Given the description of an element on the screen output the (x, y) to click on. 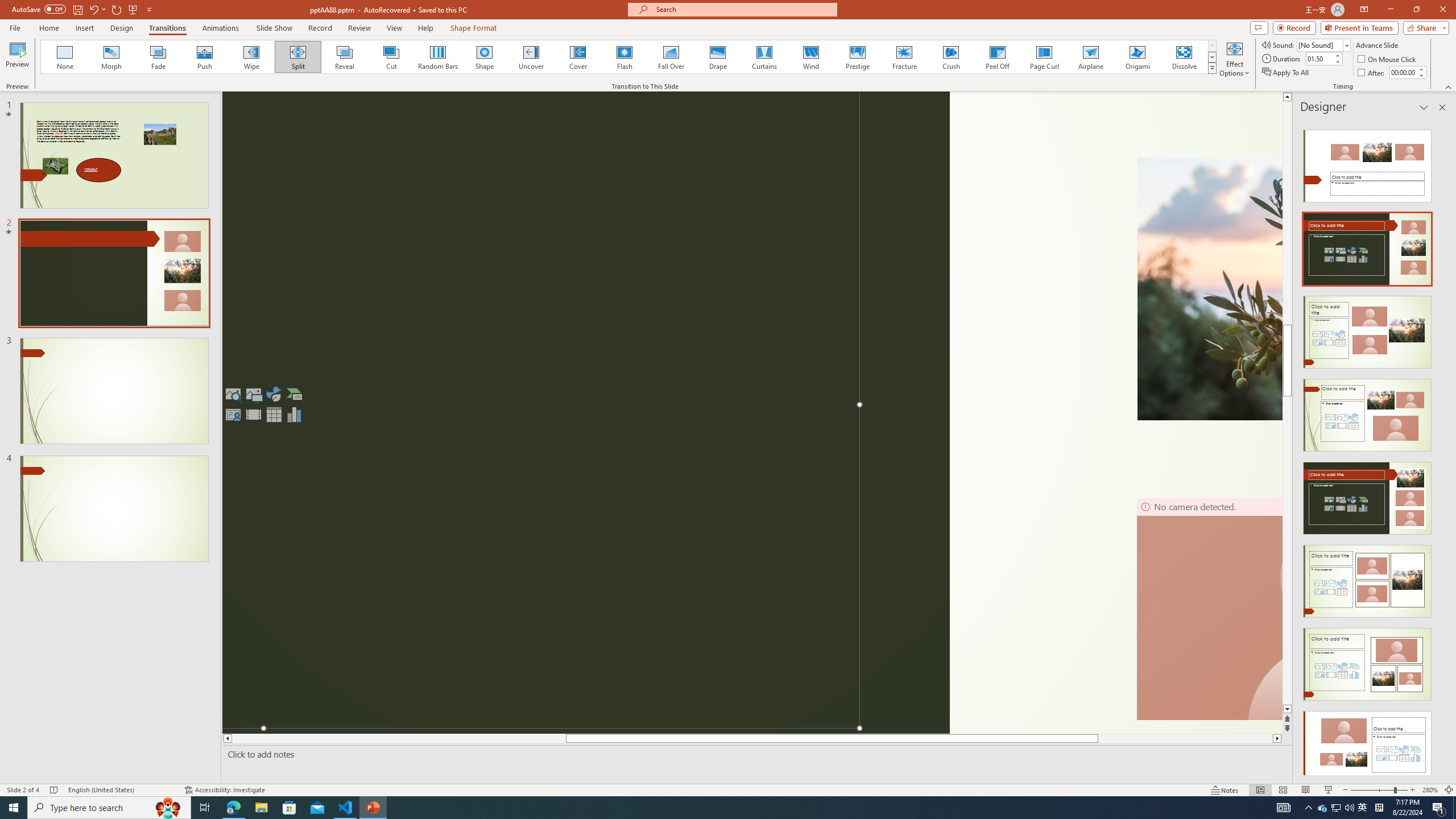
Stock Images (232, 393)
Recommended Design: Design Idea (1366, 162)
Crush (950, 56)
Wind (810, 56)
Random Bars (437, 56)
